Given the description of an element on the screen output the (x, y) to click on. 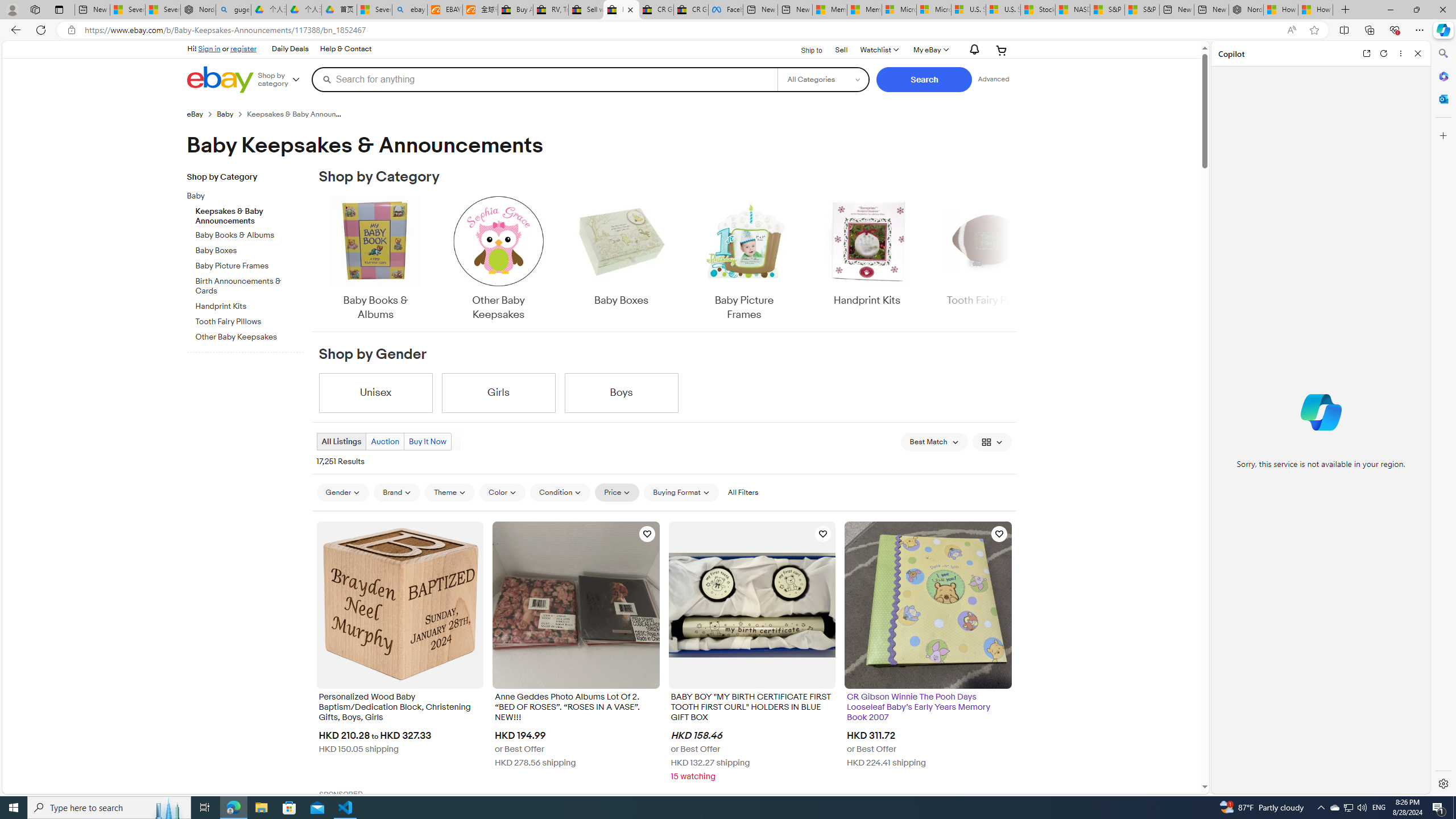
Baby Boxes (621, 251)
Brand (397, 492)
guge yunpan - Search (233, 9)
Tooth Fairy Pillows (249, 319)
Search for anything (544, 78)
Sort: Best Match (933, 441)
Ship to (804, 49)
Baby Books & Albums (375, 258)
My eBay (930, 49)
AutomationID: gh-eb-Alerts (972, 49)
